Given the description of an element on the screen output the (x, y) to click on. 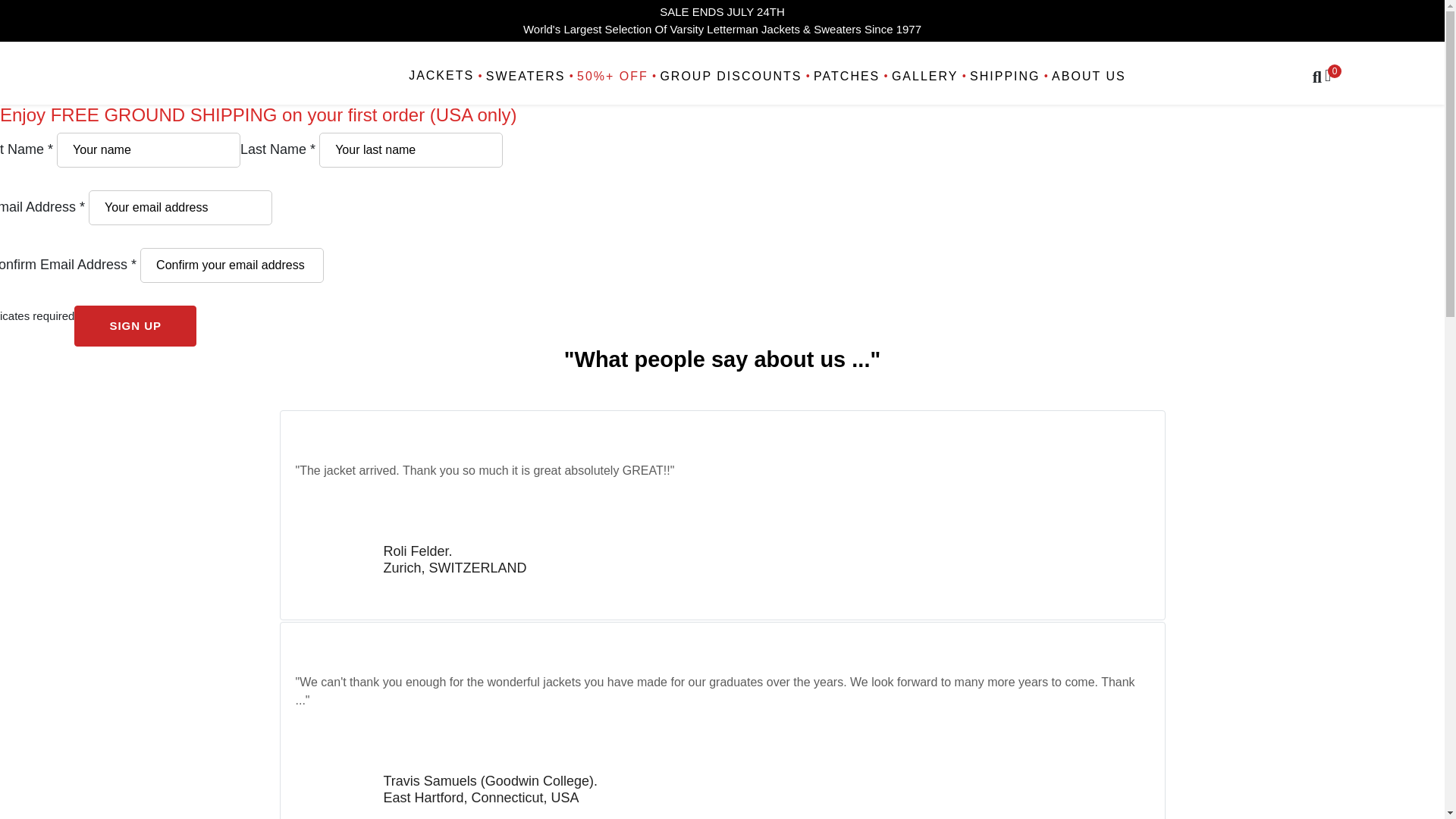
JACKETS (443, 76)
SWEATERS (523, 76)
PATCHES (844, 76)
GROUP DISCOUNTS (729, 76)
SHIPPING (1001, 76)
GALLERY (921, 76)
